Given the description of an element on the screen output the (x, y) to click on. 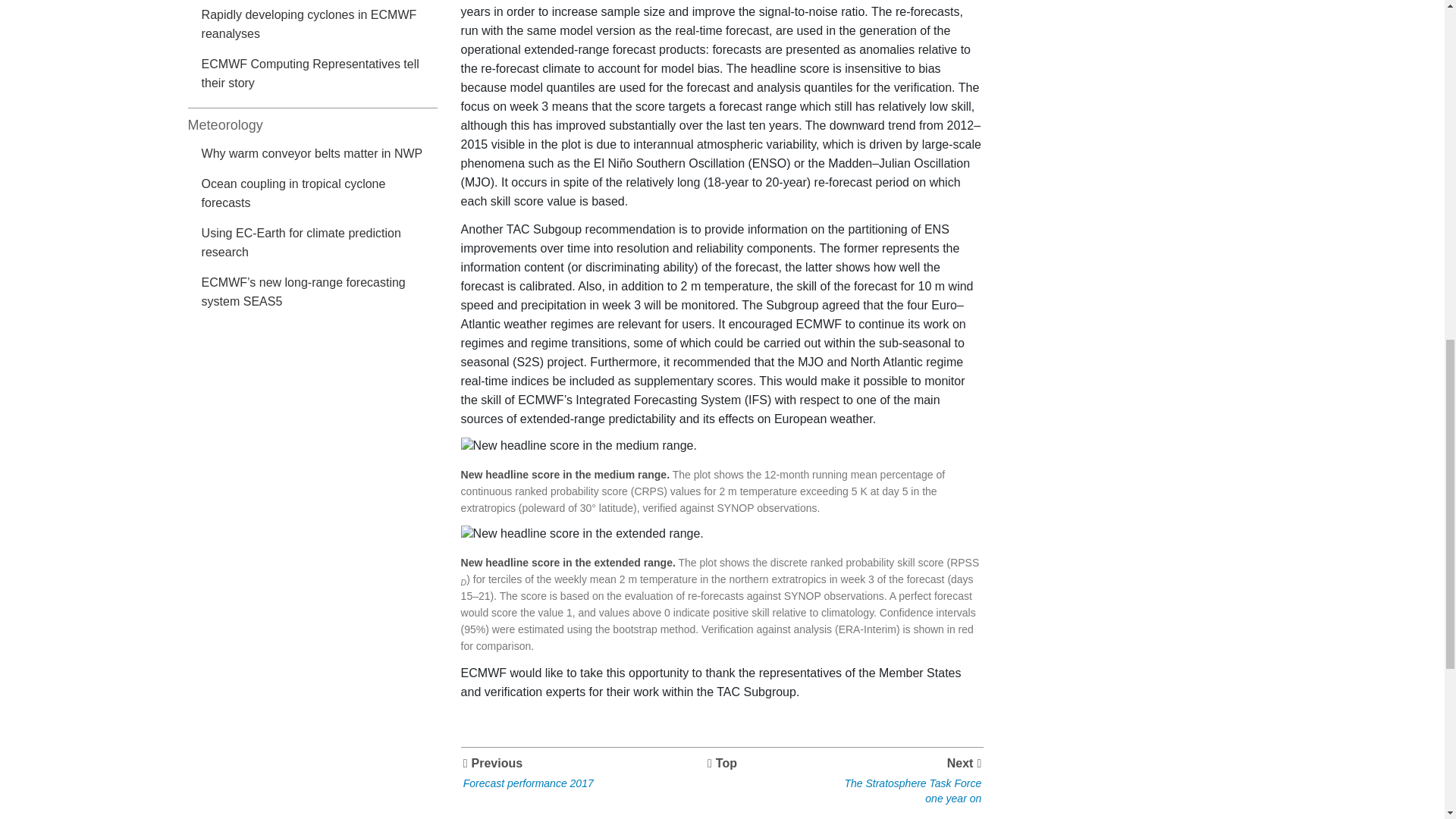
Why warm conveyor belts matter in NWP (320, 155)
New headline score in the extended range. (582, 533)
ECMWF Computing Representatives tell their story (320, 74)
Using EC-Earth for climate prediction research (320, 244)
Ocean coupling in tropical cyclone forecasts (320, 195)
Antarctic downslope winds affect ice sheet snowfall (902, 780)
New headline score in the medium range. (320, 25)
Top (579, 446)
